Given the description of an element on the screen output the (x, y) to click on. 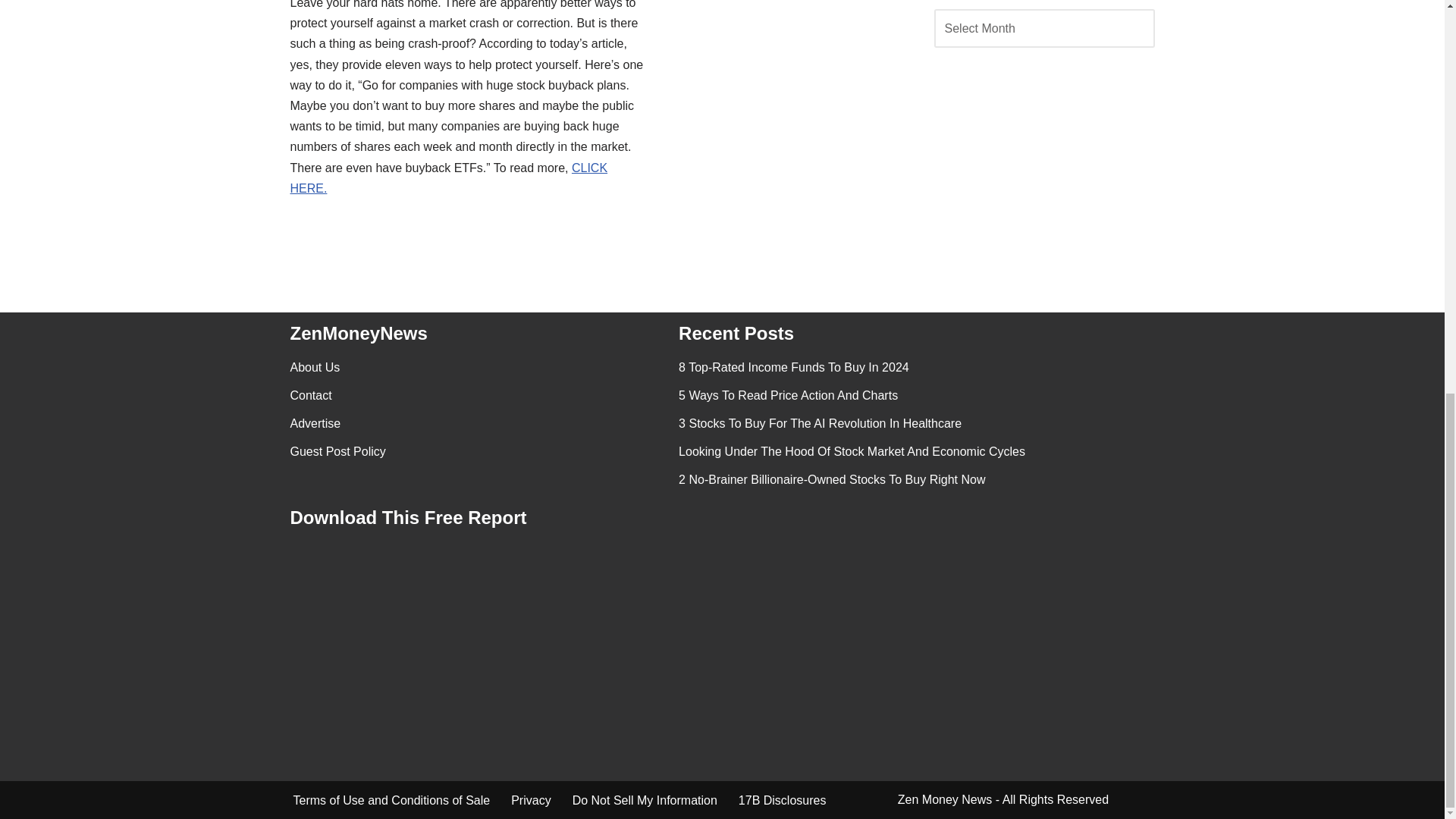
2 No-Brainer Billionaire-Owned Stocks To Buy Right Now (831, 479)
8 Top-Rated Income Funds To Buy In 2024 (793, 367)
3 Stocks To Buy For The AI Revolution In Healthcare (819, 422)
About Us (314, 367)
Privacy (530, 800)
Looking Under The Hood Of Stock Market And Economic Cycles (851, 451)
Contact (310, 395)
Guest Post Policy (337, 451)
5 Ways To Read Price Action And Charts (788, 395)
CLICK HERE. (448, 177)
